Given the description of an element on the screen output the (x, y) to click on. 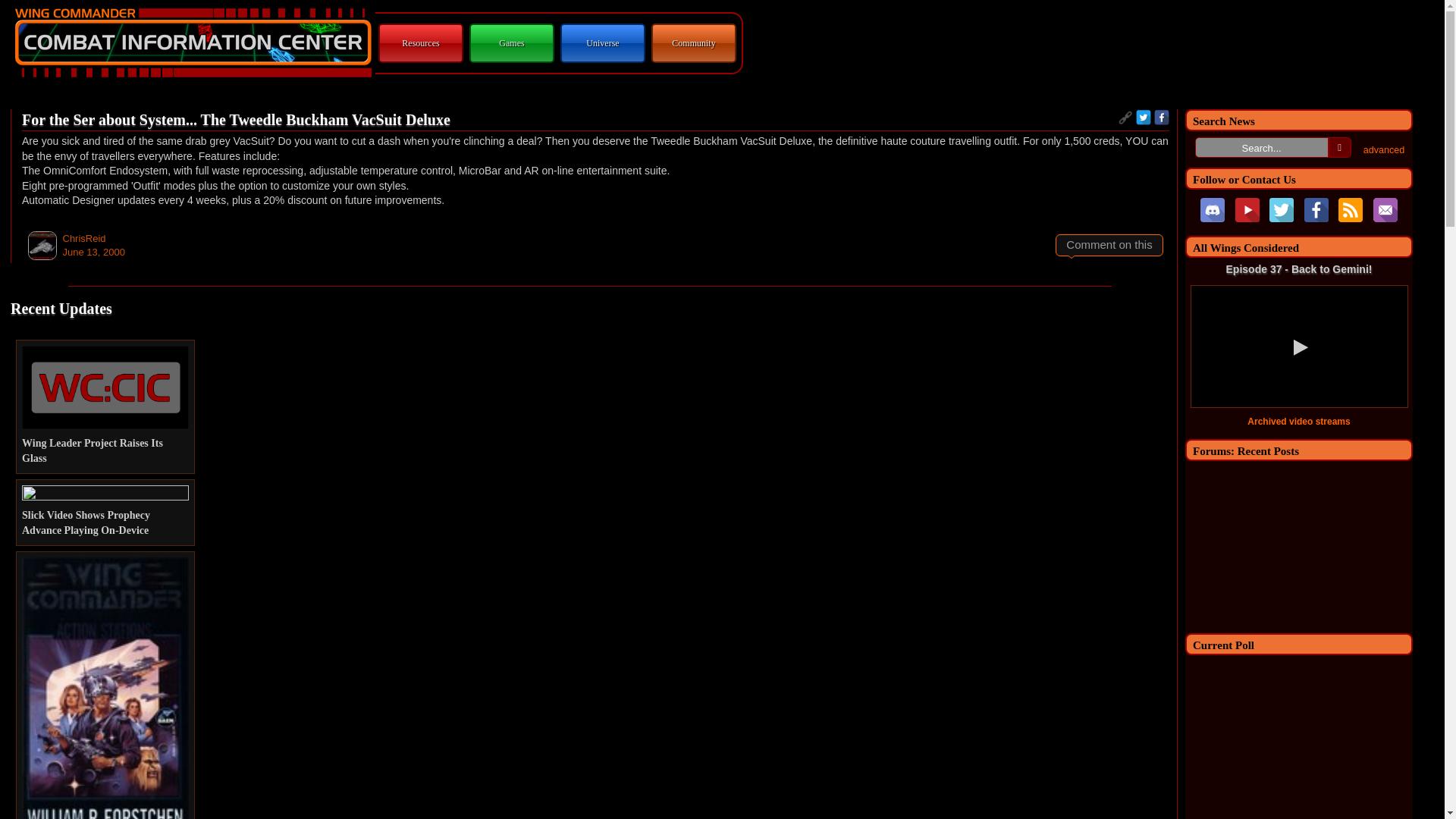
Follow us on Twitter (1281, 209)
Advanced search (1383, 149)
RSS news feed (1350, 209)
Share on Twitter (1143, 117)
Follow us on YouTube (1246, 209)
Discord chat with staff and fans (1211, 209)
Games (511, 42)
Resources (420, 42)
Share on Facebook (1161, 117)
Follow us on Facebook (1315, 209)
